Given the description of an element on the screen output the (x, y) to click on. 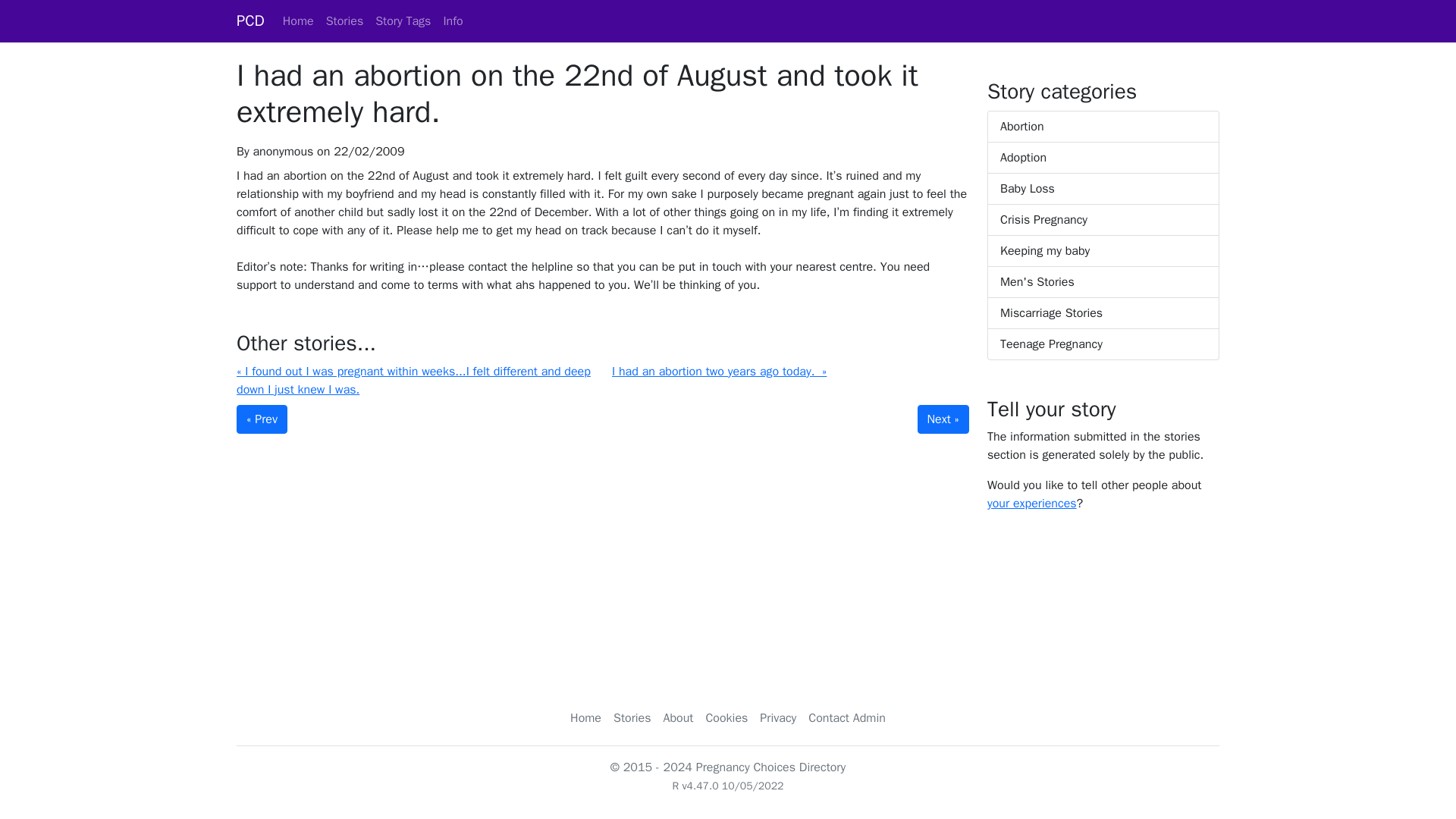
Men's Stories (1103, 282)
Story Tags (402, 20)
Abortion (1103, 126)
Info (452, 20)
PCD (249, 20)
Teenage Pregnancy (1103, 344)
Privacy (778, 717)
Baby Loss (1103, 188)
Home (585, 717)
